Given the description of an element on the screen output the (x, y) to click on. 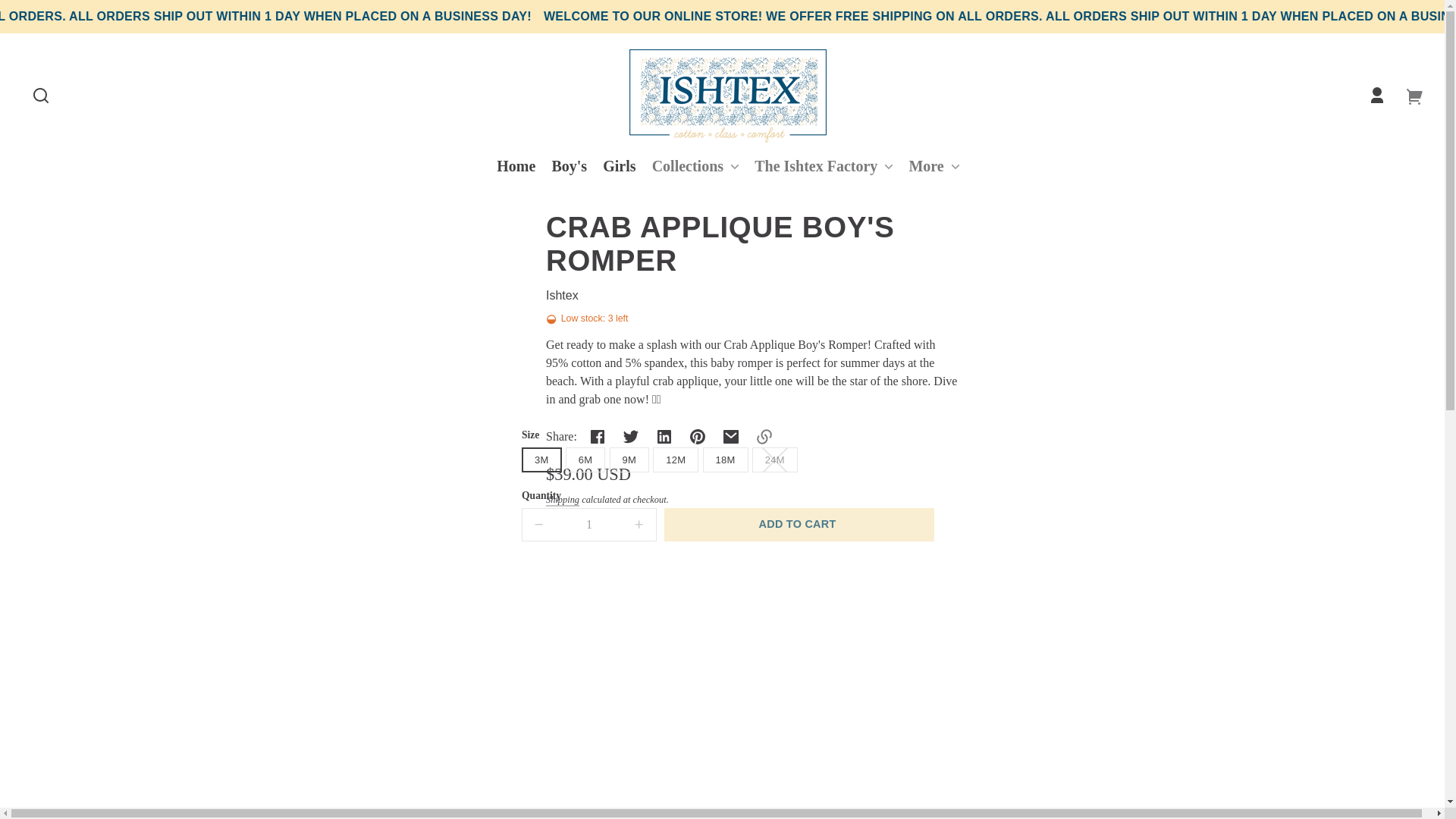
Your cart (1414, 95)
SKIP TO CONTENT (25, 16)
CRAB APPLIQUE BOY'S ROMPER (752, 243)
Girls (618, 166)
Shipping (562, 499)
More (933, 166)
The Ishtex Factory (823, 166)
Home (515, 166)
Log in (1376, 95)
ADD TO CART (798, 524)
